Given the description of an element on the screen output the (x, y) to click on. 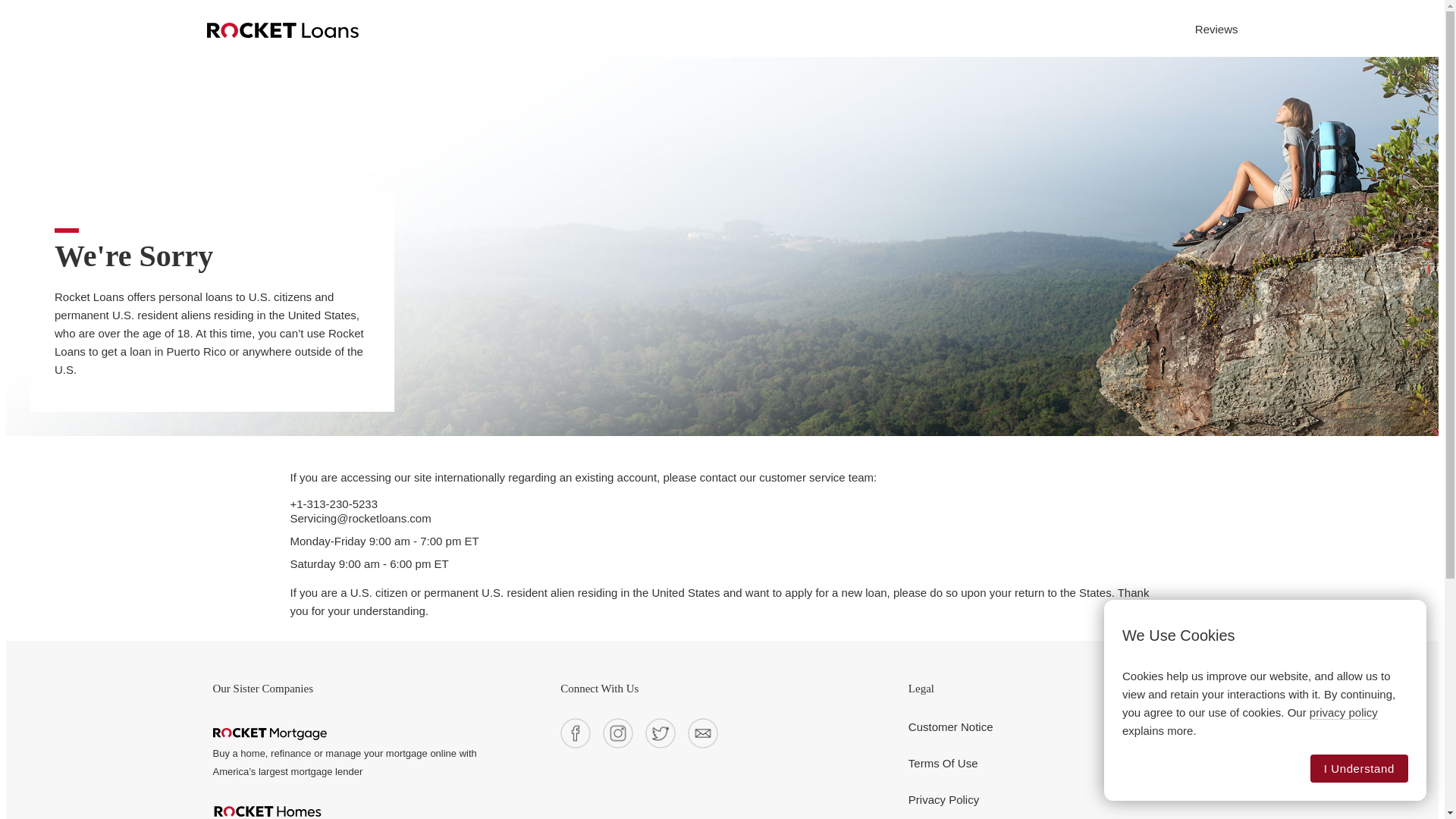
Terms Of Use (943, 763)
I Understand (1358, 768)
Rocket Homes (266, 811)
Privacy Policy (943, 799)
Customer Notice (950, 726)
Rocket Mortgage (269, 734)
privacy policy (1342, 712)
Reviews (1217, 29)
